Given the description of an element on the screen output the (x, y) to click on. 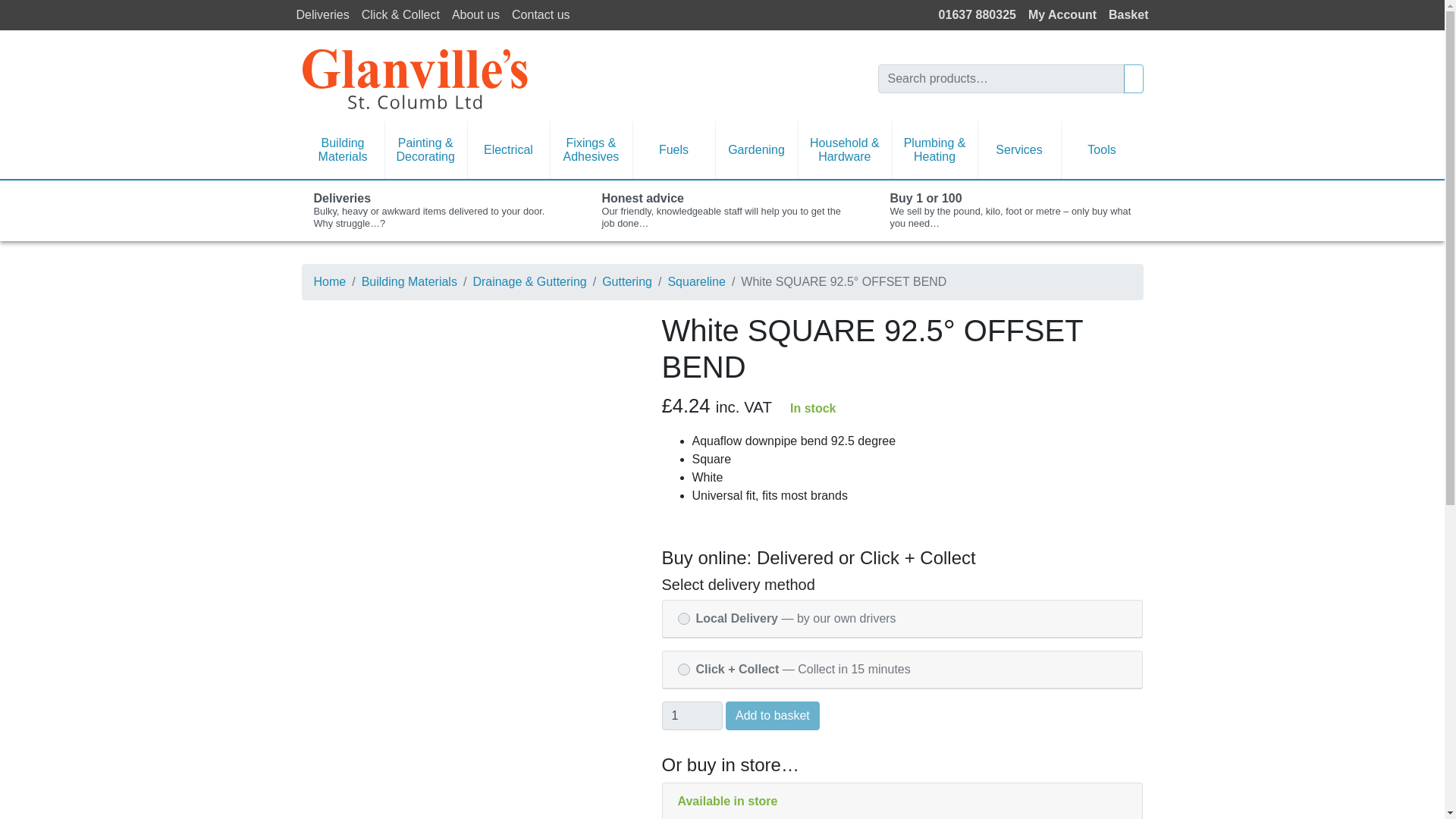
Contact us (540, 15)
1 (691, 715)
Basket (1128, 15)
Glanville's St. Columb Ltd (414, 77)
01637 880325 (977, 15)
About us (475, 15)
Qty (691, 715)
Building Materials (342, 150)
My Account (1062, 15)
Deliveries (322, 15)
